Given the description of an element on the screen output the (x, y) to click on. 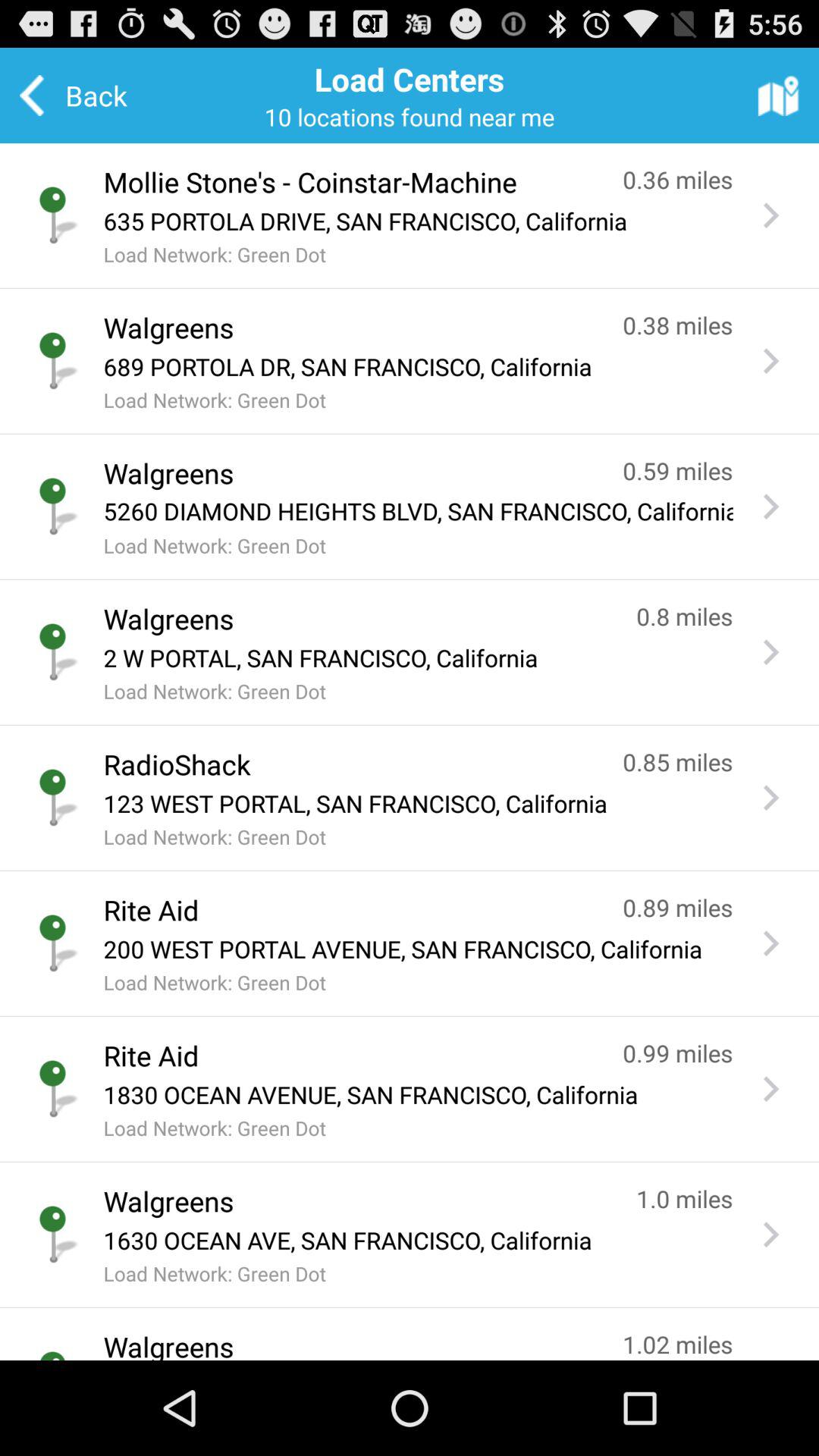
jump to 5260 diamond heights item (418, 511)
